Given the description of an element on the screen output the (x, y) to click on. 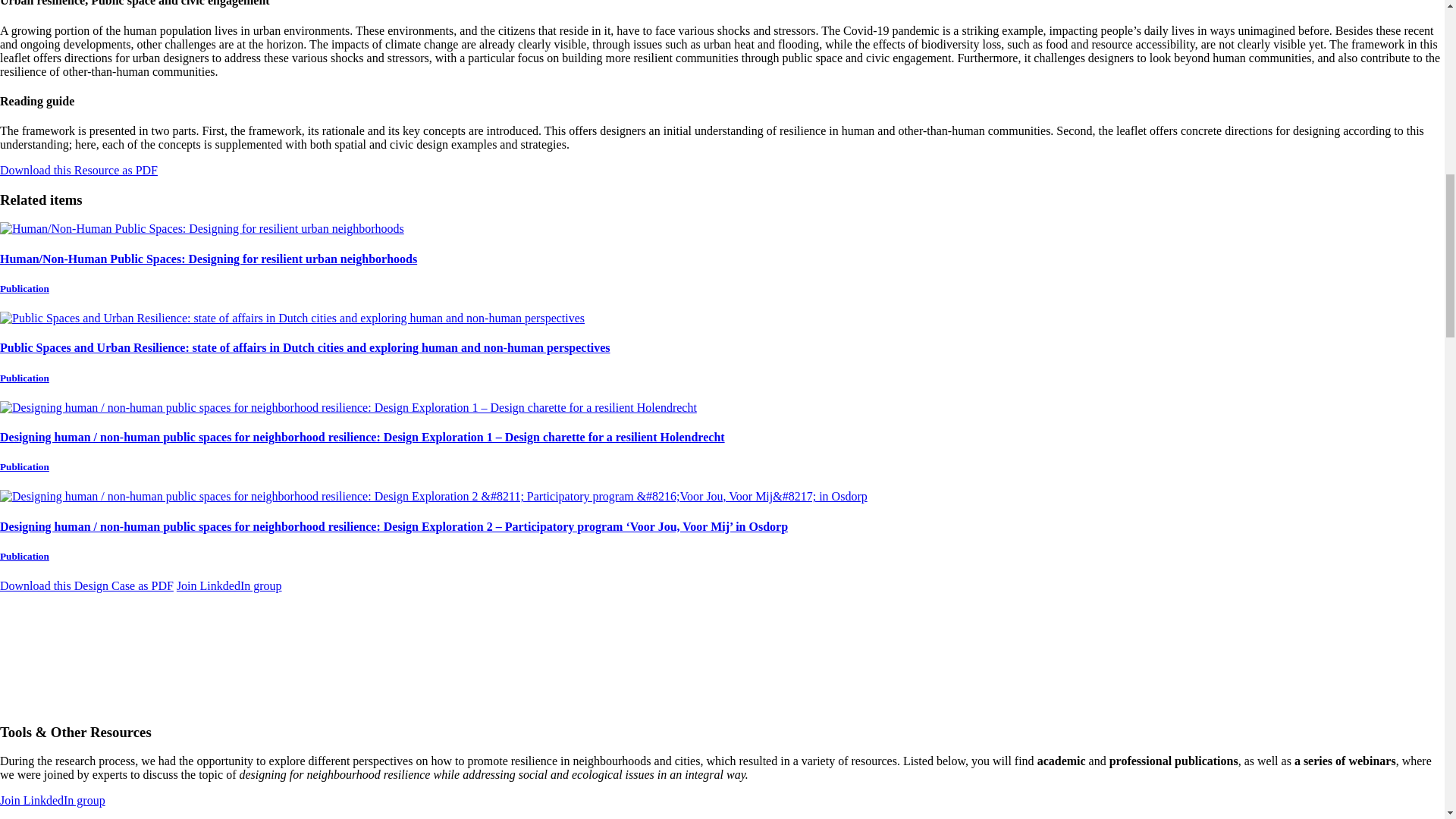
Download this Design Case as PDF (86, 585)
Join LinkdedIn group (229, 585)
Join LinkdedIn group (52, 799)
Download this Resource as PDF (78, 169)
